Given the description of an element on the screen output the (x, y) to click on. 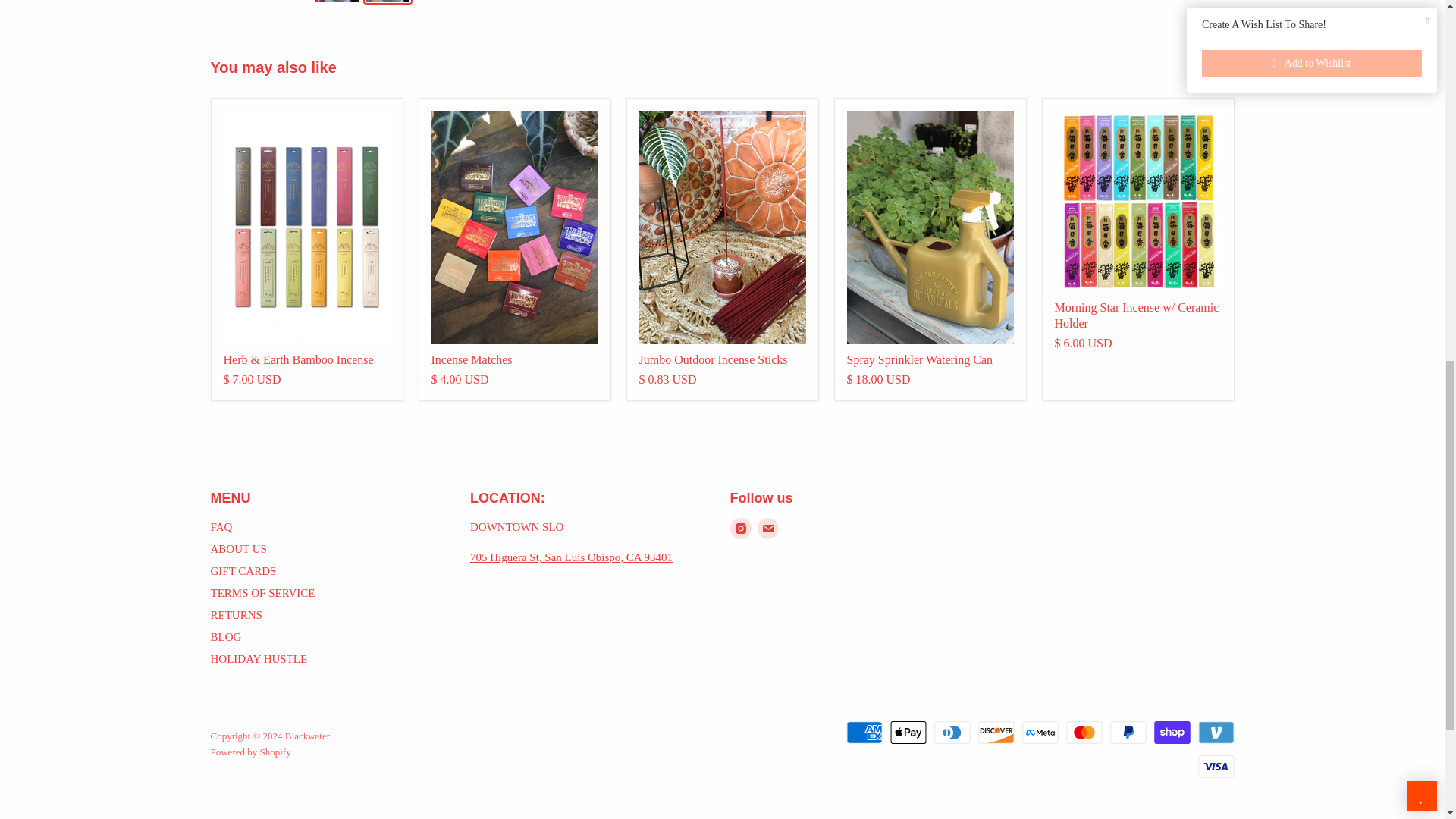
Instagram (740, 528)
E-mail (767, 528)
